Given the description of an element on the screen output the (x, y) to click on. 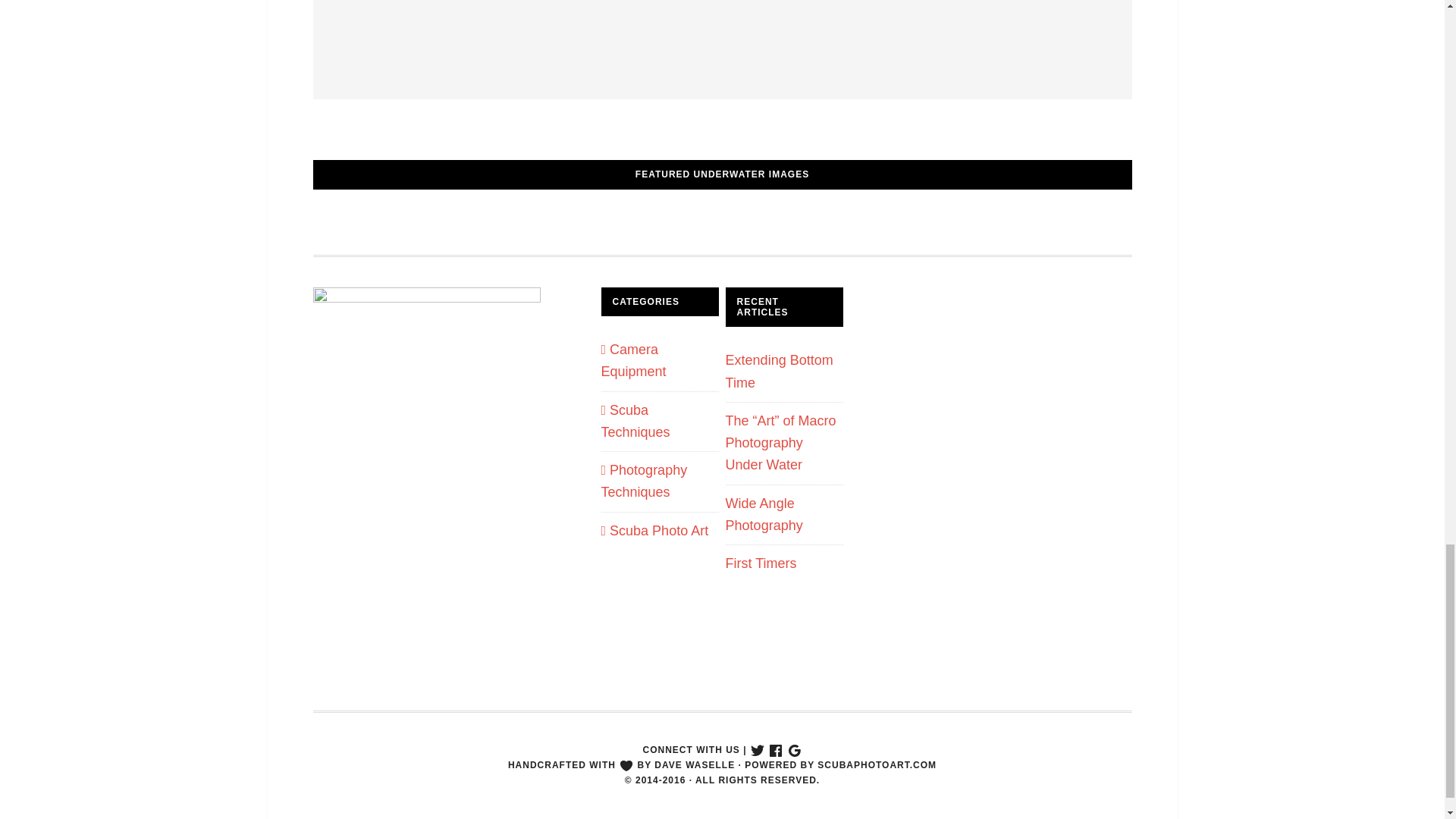
Scuba Techniques (634, 420)
Extending Bottom Time (778, 370)
Scuba Photo Art (653, 530)
Photography Techniques (643, 480)
Camera Equipment (632, 360)
